Given the description of an element on the screen output the (x, y) to click on. 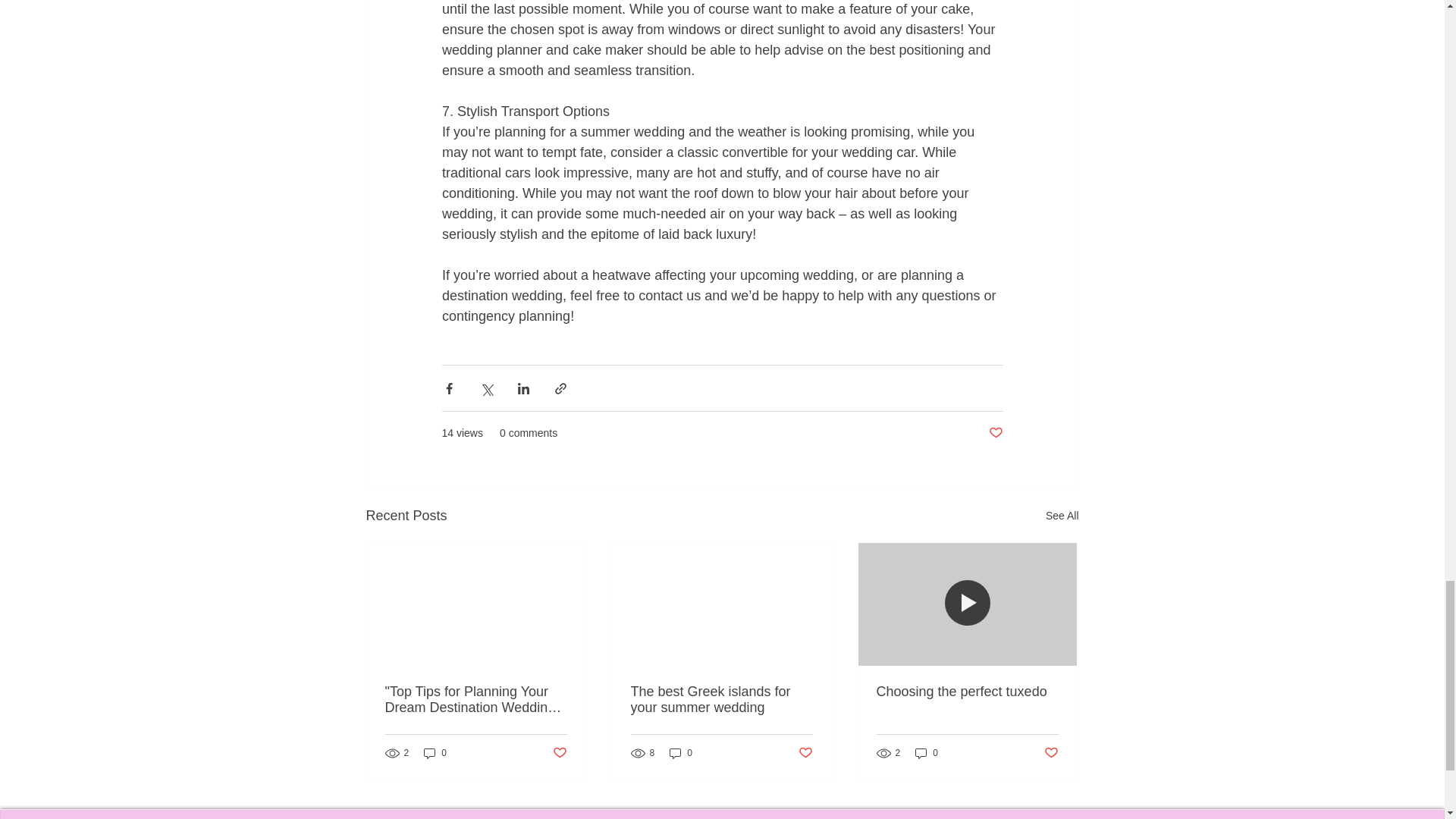
Post not marked as liked (558, 753)
0 (681, 753)
Post not marked as liked (995, 433)
0 (926, 753)
Choosing the perfect tuxedo (967, 691)
0 (435, 753)
The best Greek islands for your summer wedding (721, 699)
See All (1061, 516)
Post not marked as liked (804, 753)
